Given the description of an element on the screen output the (x, y) to click on. 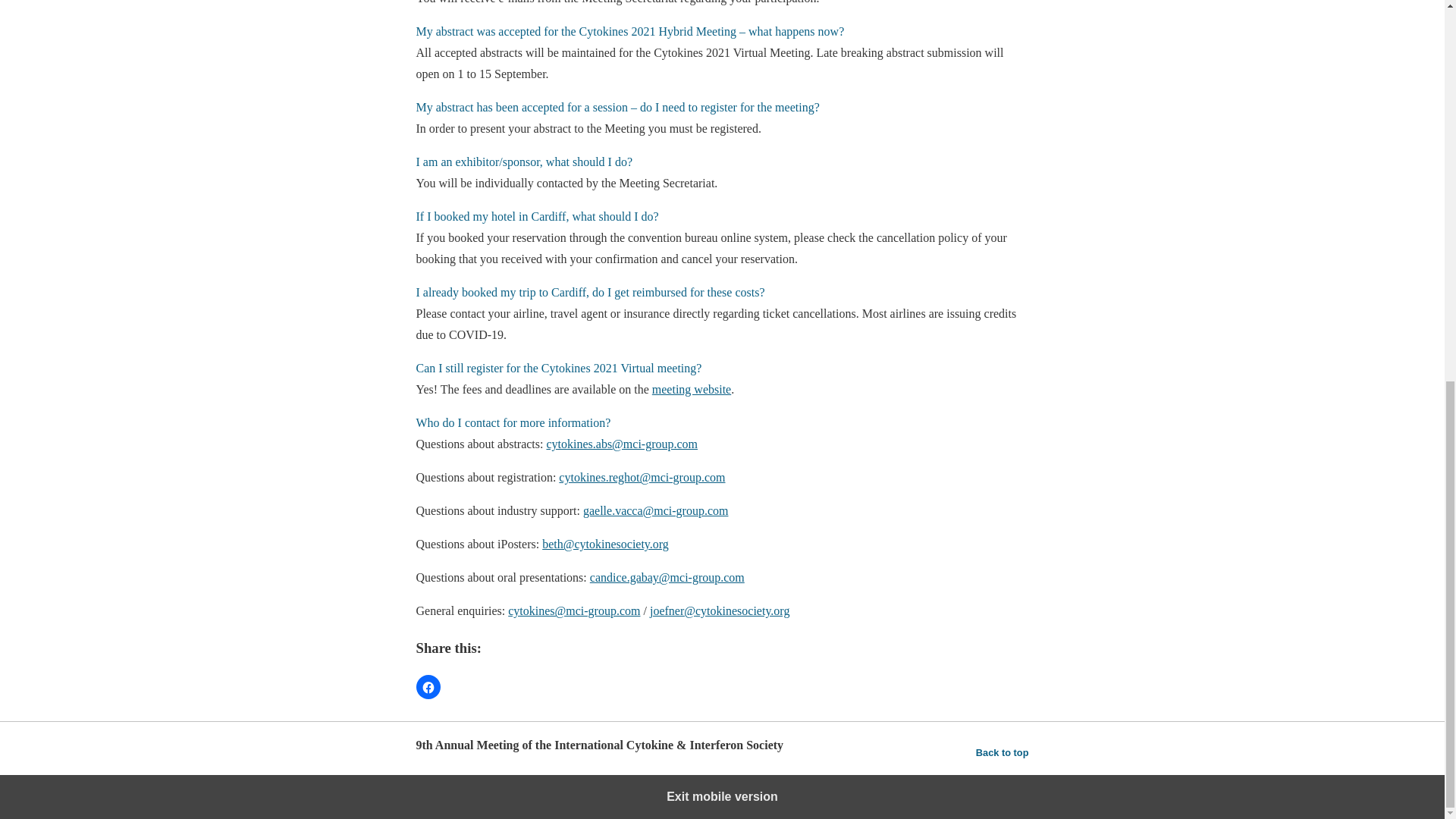
Click to share on Facebook (426, 686)
meeting website (691, 389)
If I booked my hotel in Cardiff, what should I do? (536, 215)
Back to top (1002, 752)
Click to share on X (456, 686)
Who do I contact for more information? (512, 422)
Can I still register for the Cytokines 2021 Virtual meeting? (557, 367)
